Given the description of an element on the screen output the (x, y) to click on. 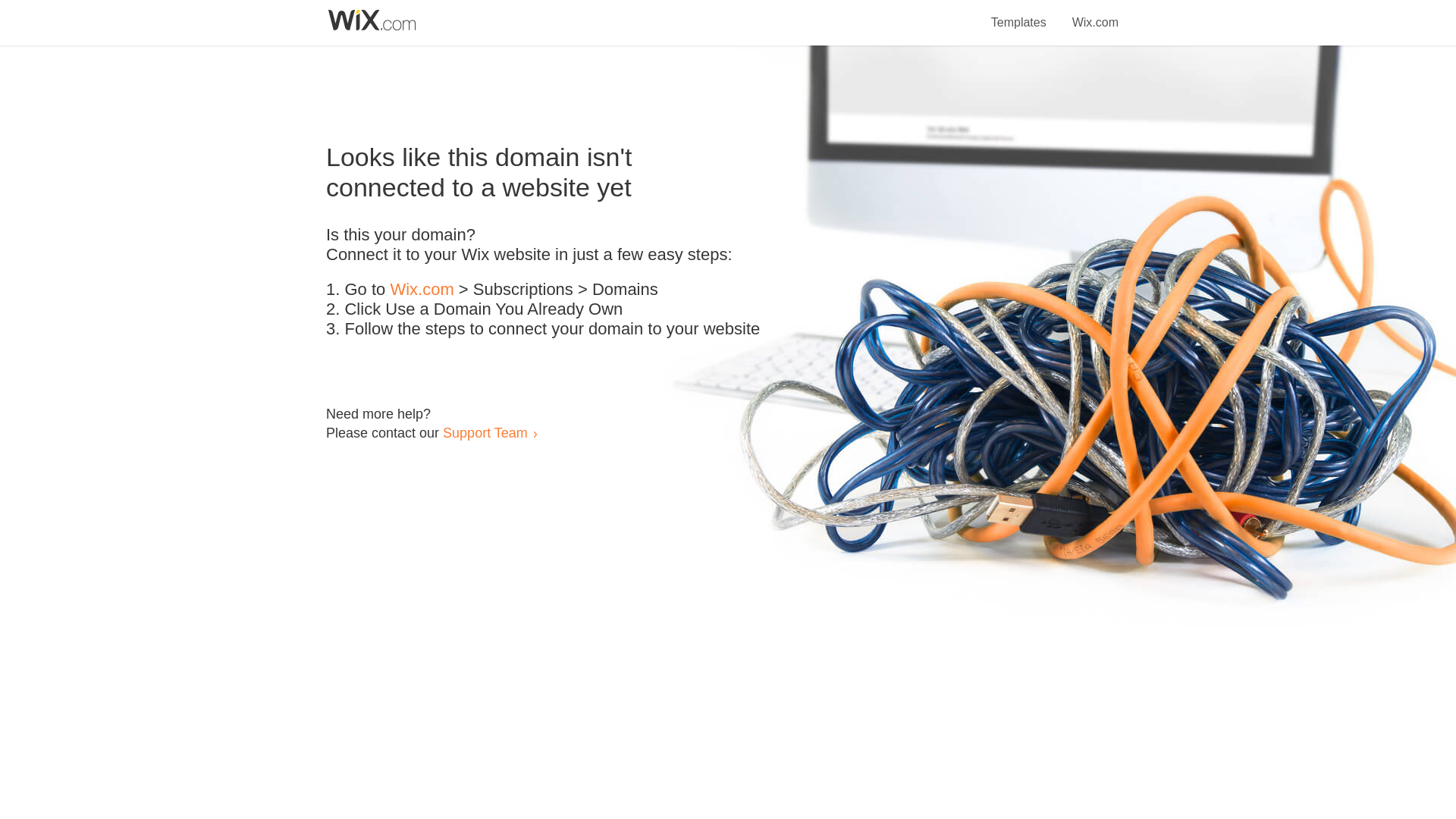
Wix.com (1095, 14)
Support Team (484, 432)
Wix.com (421, 289)
Templates (1018, 14)
